Given the description of an element on the screen output the (x, y) to click on. 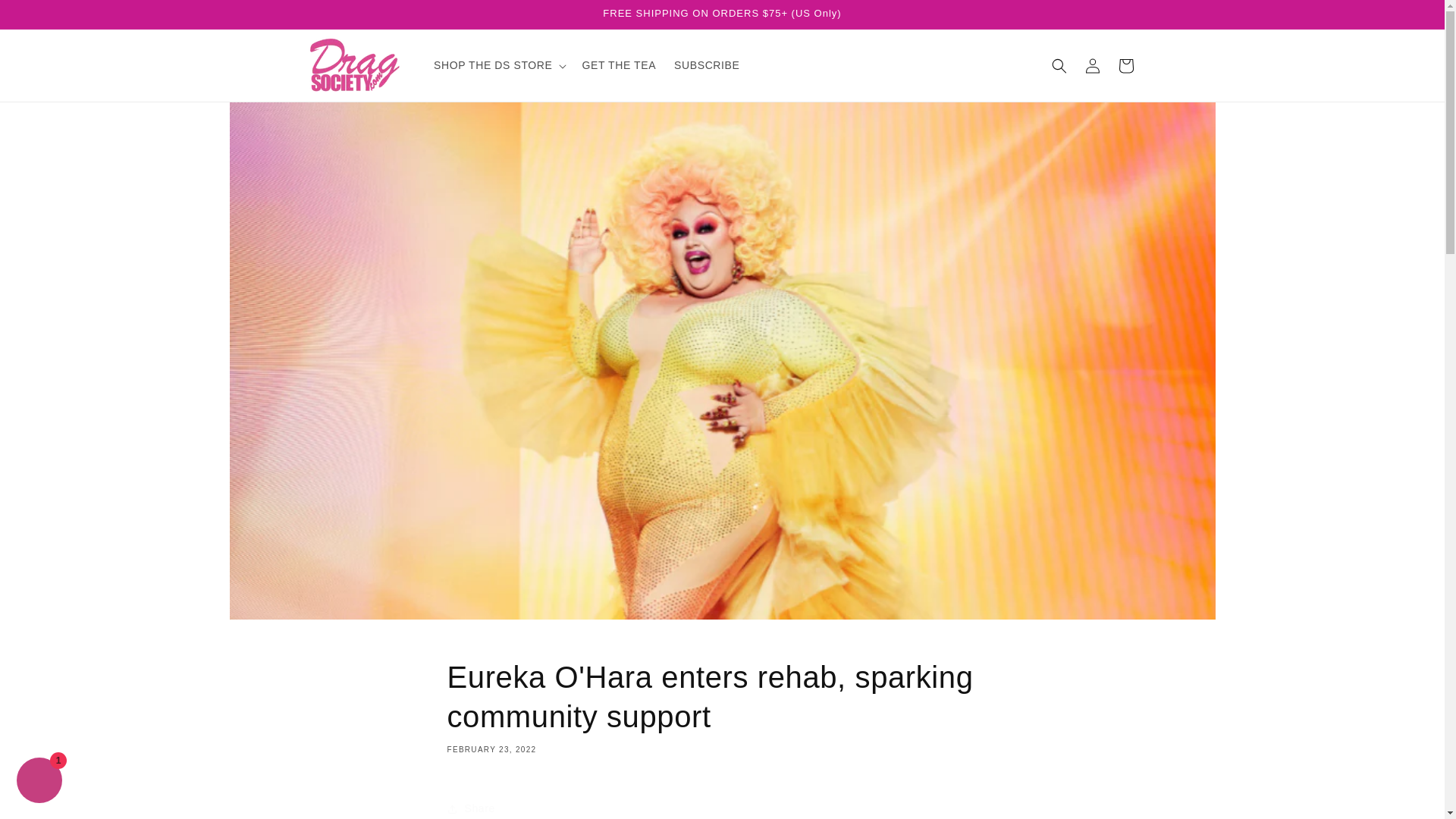
Cart (1124, 64)
Skip to content (45, 17)
Log in (1091, 64)
GET THE TEA (618, 65)
SUBSCRIBE (706, 65)
Share (721, 805)
Shopify online store chat (38, 781)
